Given the description of an element on the screen output the (x, y) to click on. 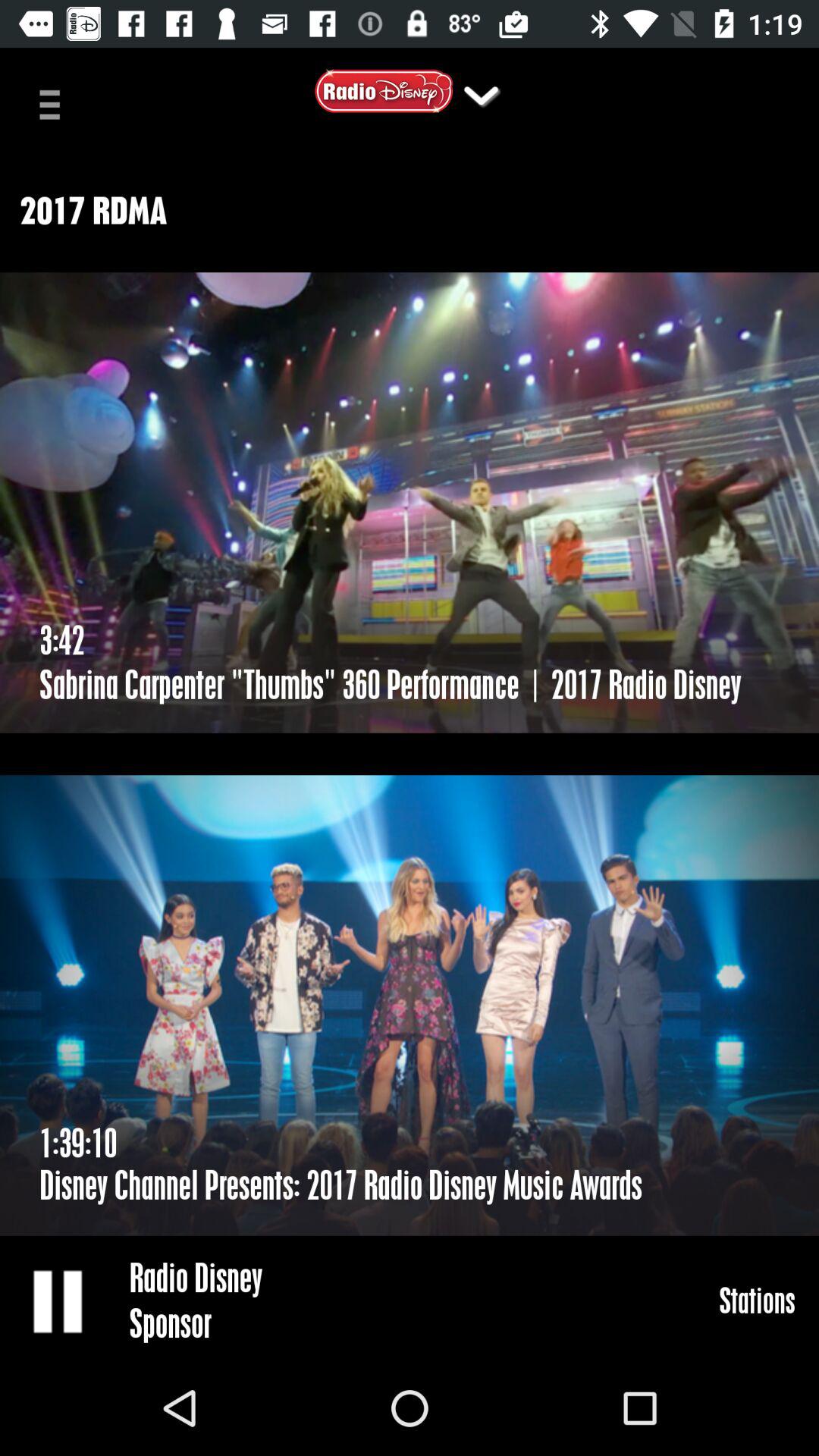
turn off icon at the bottom right corner (757, 1300)
